Given the description of an element on the screen output the (x, y) to click on. 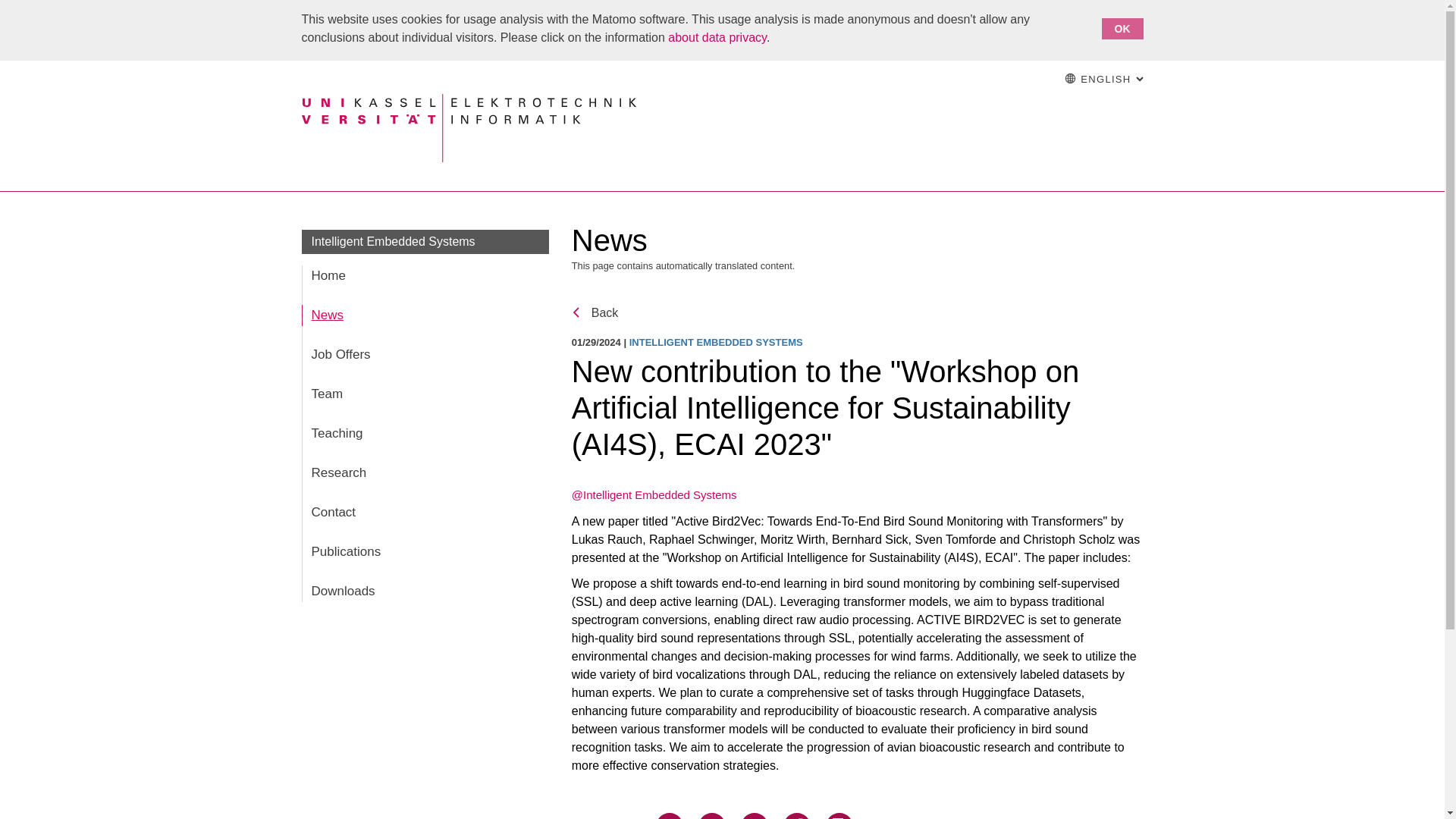
about data privacy (717, 37)
Research (424, 473)
Team (1103, 79)
Show search form (424, 394)
Publications (999, 79)
Back (424, 551)
Intelligent Embedded Systems (595, 312)
Job Offers (392, 241)
Downloads (424, 354)
